Given the description of an element on the screen output the (x, y) to click on. 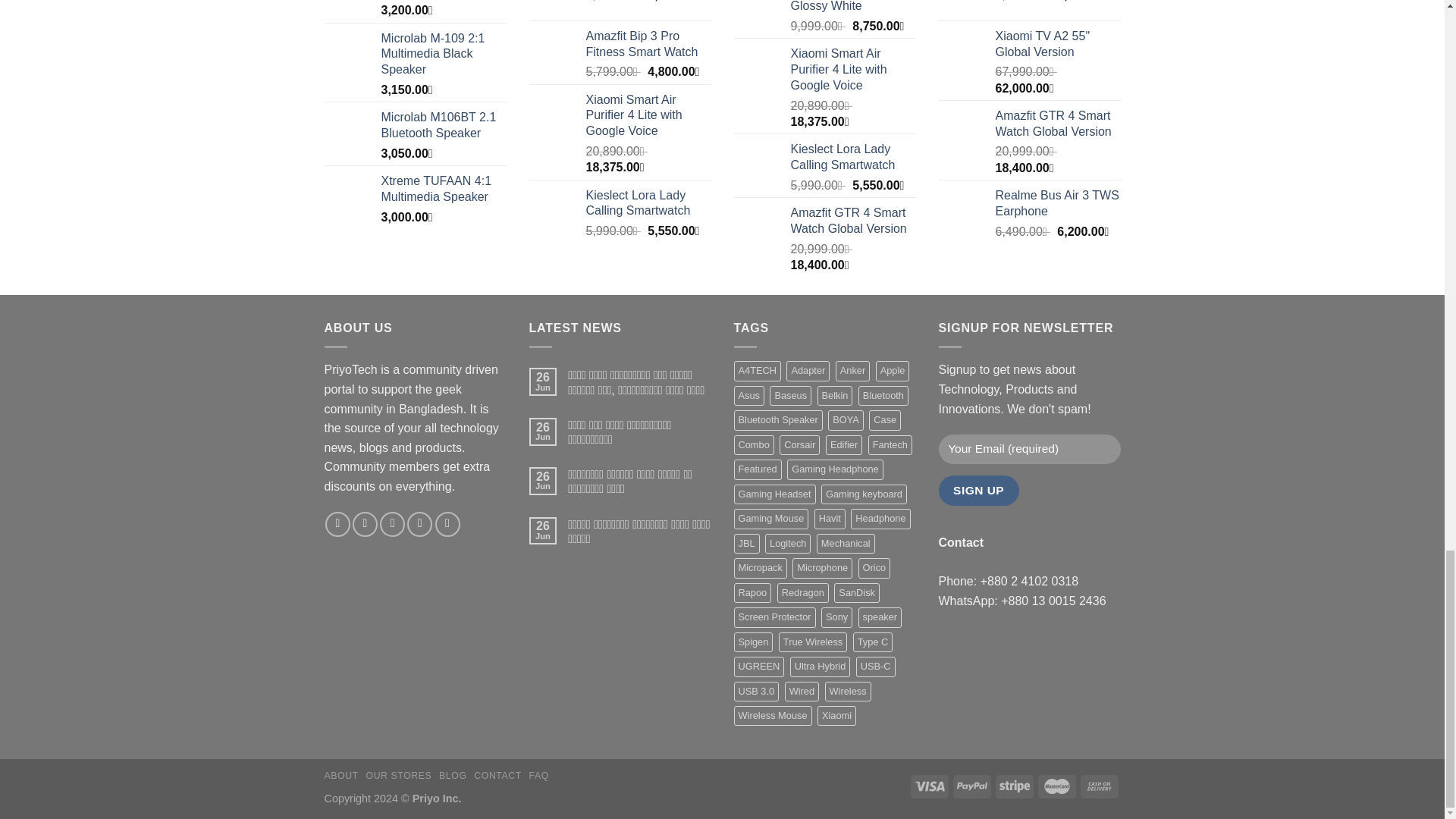
Sign Up (979, 490)
